Given the description of an element on the screen output the (x, y) to click on. 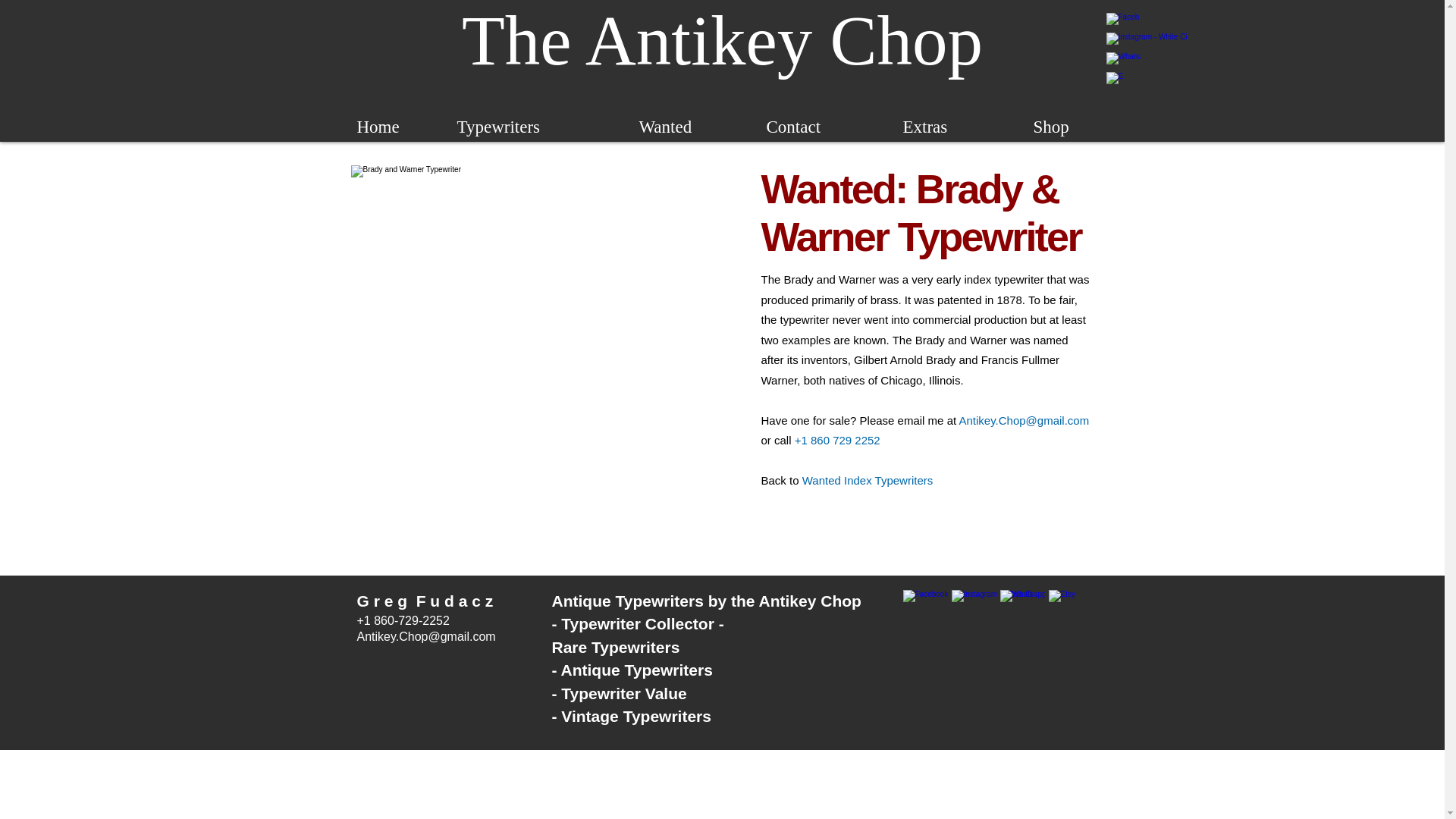
Extras (924, 126)
The Antikey Chop (721, 39)
Home (377, 126)
Typewriters (498, 126)
Shop (1050, 126)
Wanted Index Typewriters (867, 480)
Wanted (665, 126)
Contact (793, 126)
